Given the description of an element on the screen output the (x, y) to click on. 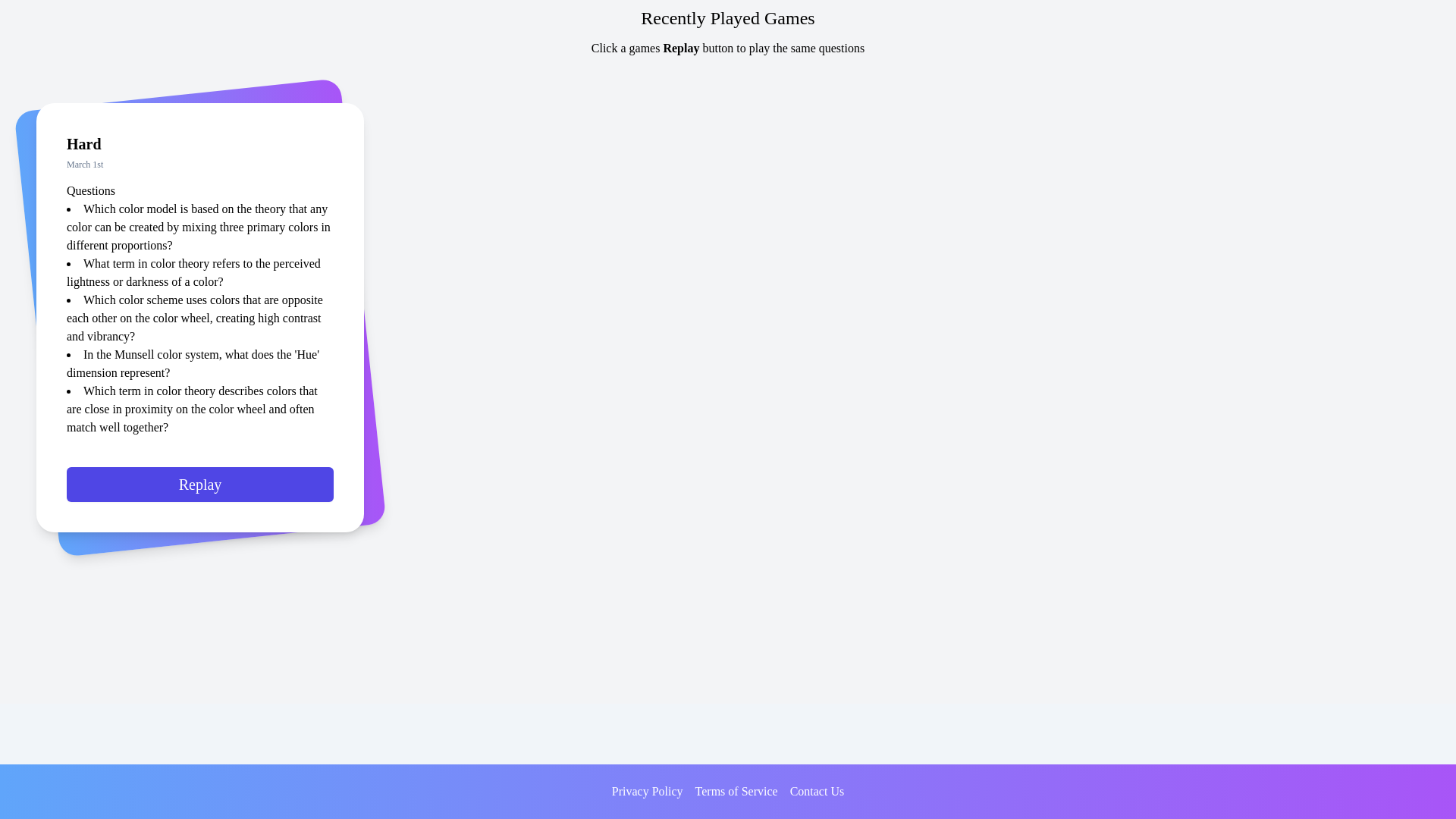
Contact Us (817, 791)
Replay (199, 492)
Privacy Policy (646, 791)
Terms of Service (736, 791)
